Given the description of an element on the screen output the (x, y) to click on. 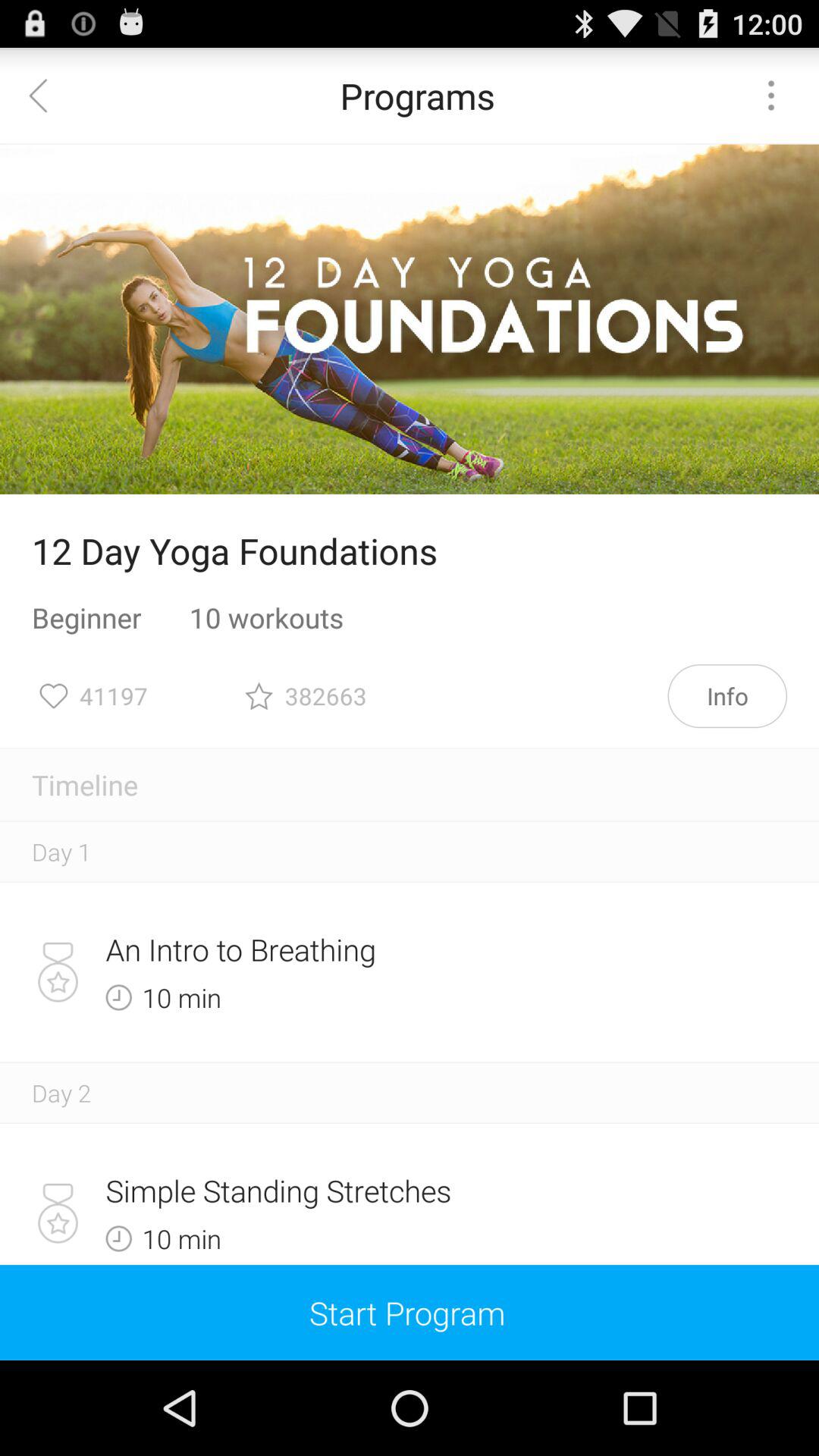
click item to the right of programs icon (771, 95)
